Given the description of an element on the screen output the (x, y) to click on. 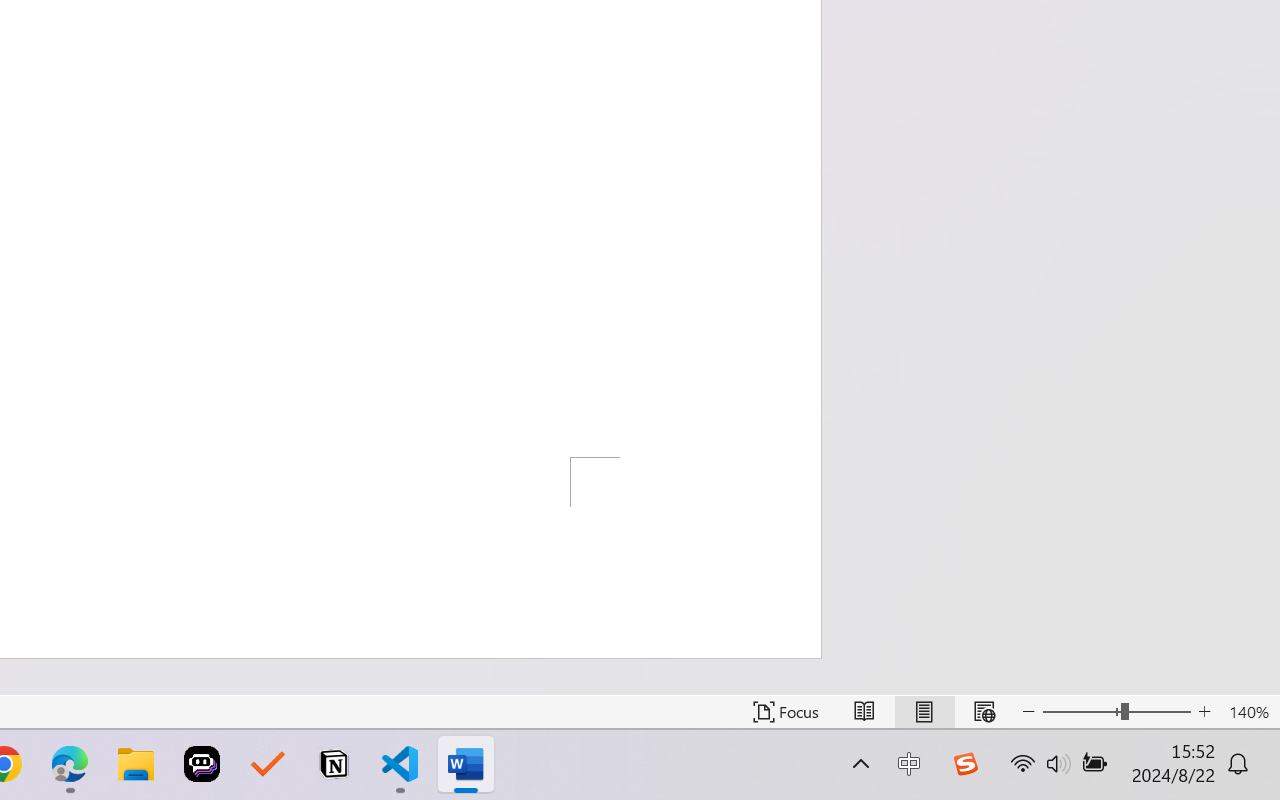
Focus  (786, 712)
Zoom Out (1081, 712)
Web Layout (984, 712)
Read Mode (864, 712)
Zoom 140% (1249, 712)
Print Layout (924, 712)
Zoom (1116, 712)
Class: Image (965, 764)
Zoom In (1204, 712)
